Given the description of an element on the screen output the (x, y) to click on. 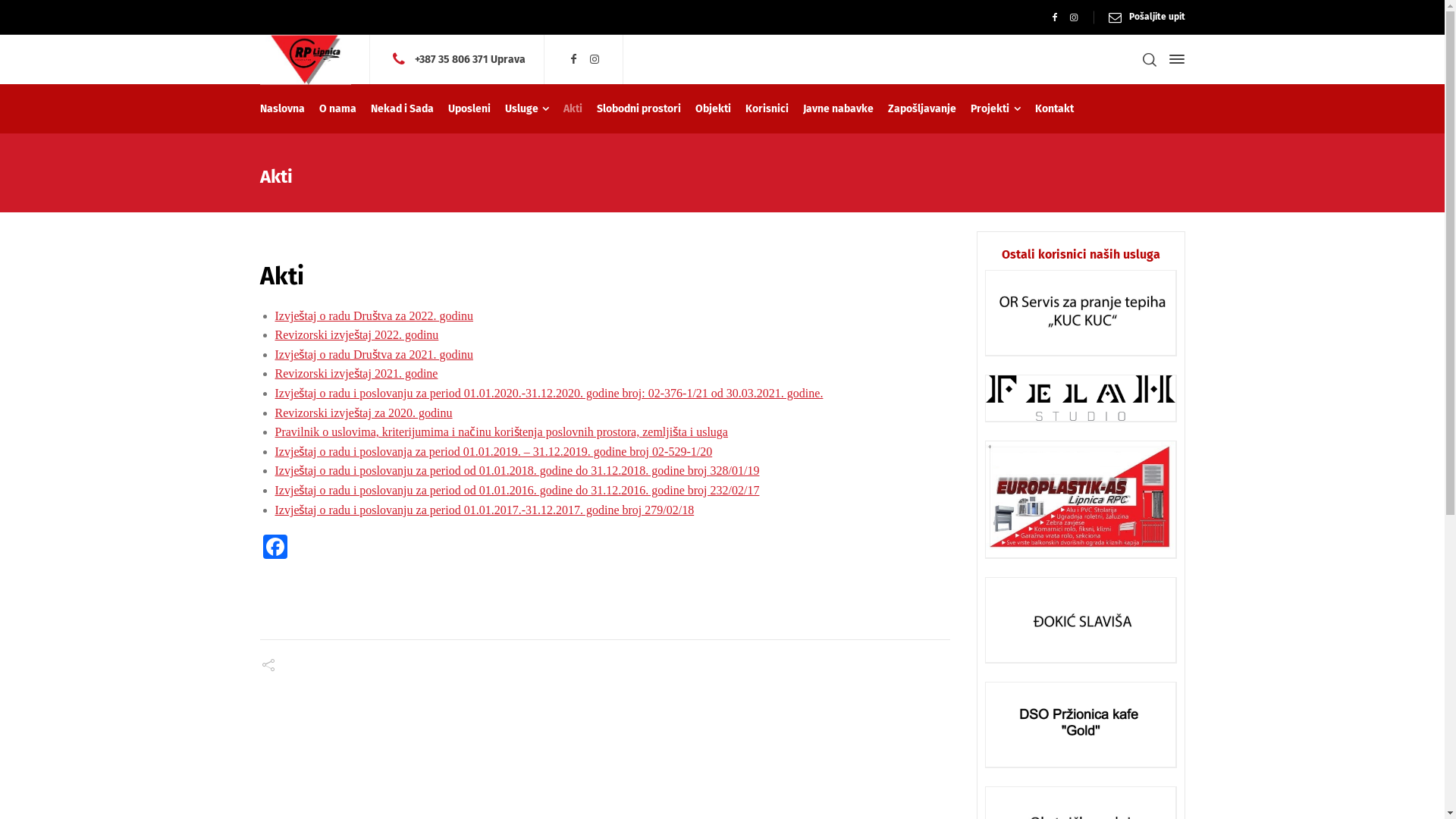
Objekti Element type: text (713, 108)
Slobodni prostori Element type: text (638, 108)
O nama Element type: text (338, 108)
Projekti Element type: text (995, 108)
Javne nabavke Element type: text (838, 108)
Nekad i Sada Element type: text (402, 108)
Instagram Element type: hover (1072, 17)
Uposleni Element type: text (469, 108)
Search Element type: hover (1148, 59)
Naslovna Element type: text (285, 108)
Akti Element type: text (572, 108)
Usluge Element type: text (526, 108)
+387 35 806 371 Uprava Element type: text (469, 59)
Facebook Element type: hover (572, 59)
Facebook Element type: hover (1054, 17)
Facebook Element type: text (274, 548)
Kontakt Element type: text (1054, 108)
Korisnici Element type: text (767, 108)
Instagram Element type: hover (594, 59)
